Given the description of an element on the screen output the (x, y) to click on. 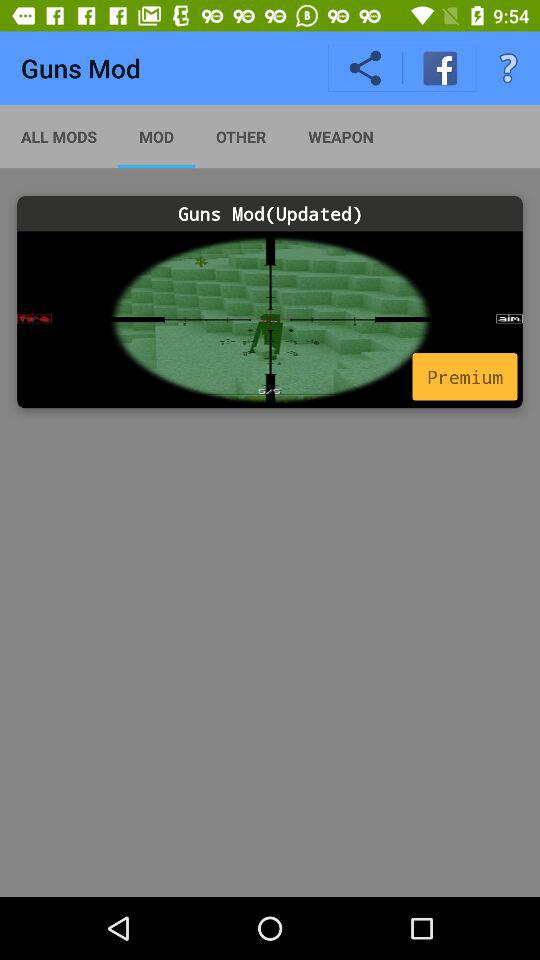
open the icon below guns mod(updated) icon (464, 376)
